Given the description of an element on the screen output the (x, y) to click on. 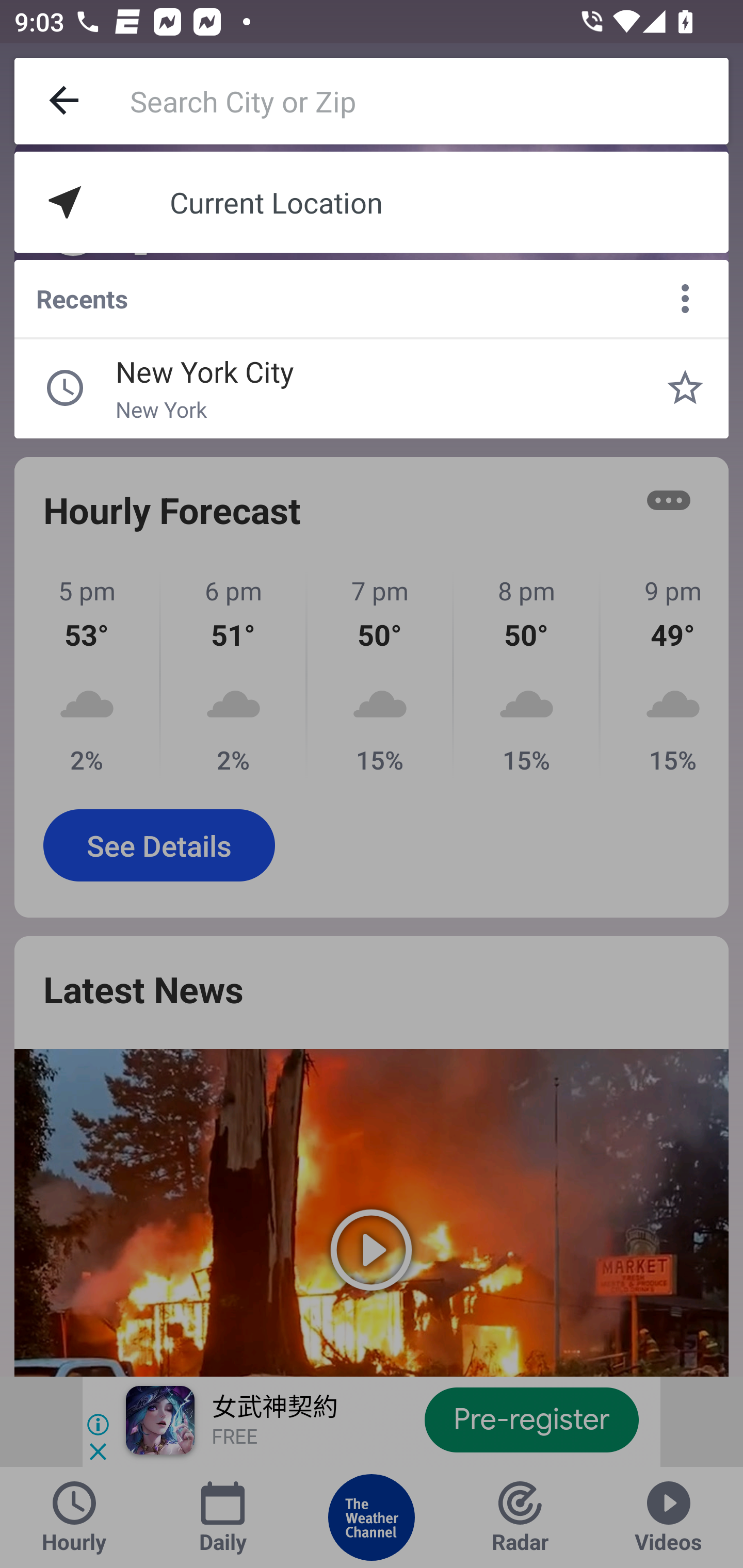
Back (64, 101)
Search City or Zip (429, 100)
Current Location (371, 202)
more (685, 298)
New York City New York Add to favorites (684, 387)
